Given the description of an element on the screen output the (x, y) to click on. 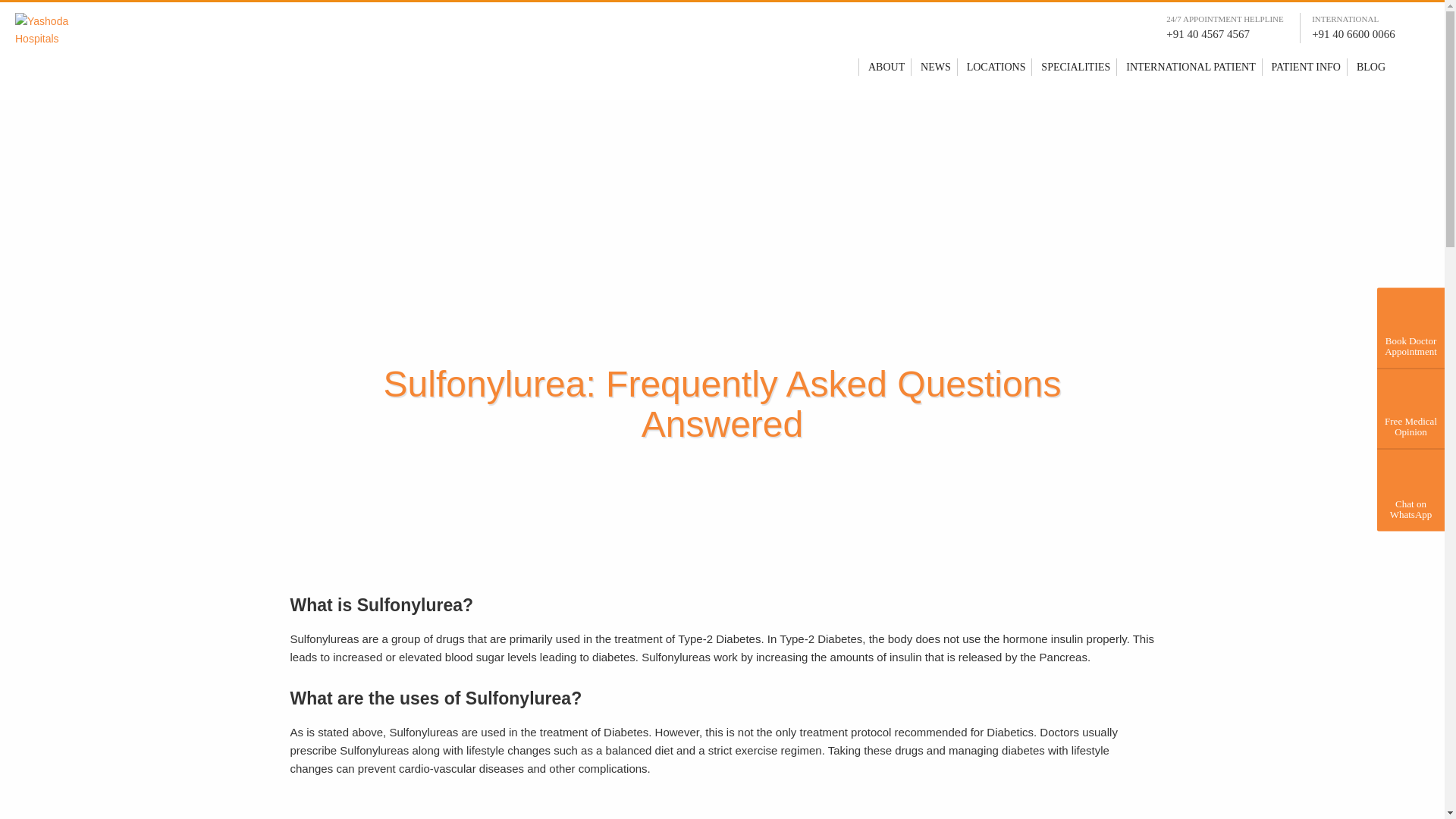
SPECIALITIES (1075, 67)
NEWS (935, 67)
Locations (996, 67)
Yashoda Specialities (1075, 67)
ABOUT (885, 67)
LOCATIONS (996, 67)
Yashoda in News (935, 67)
